Given the description of an element on the screen output the (x, y) to click on. 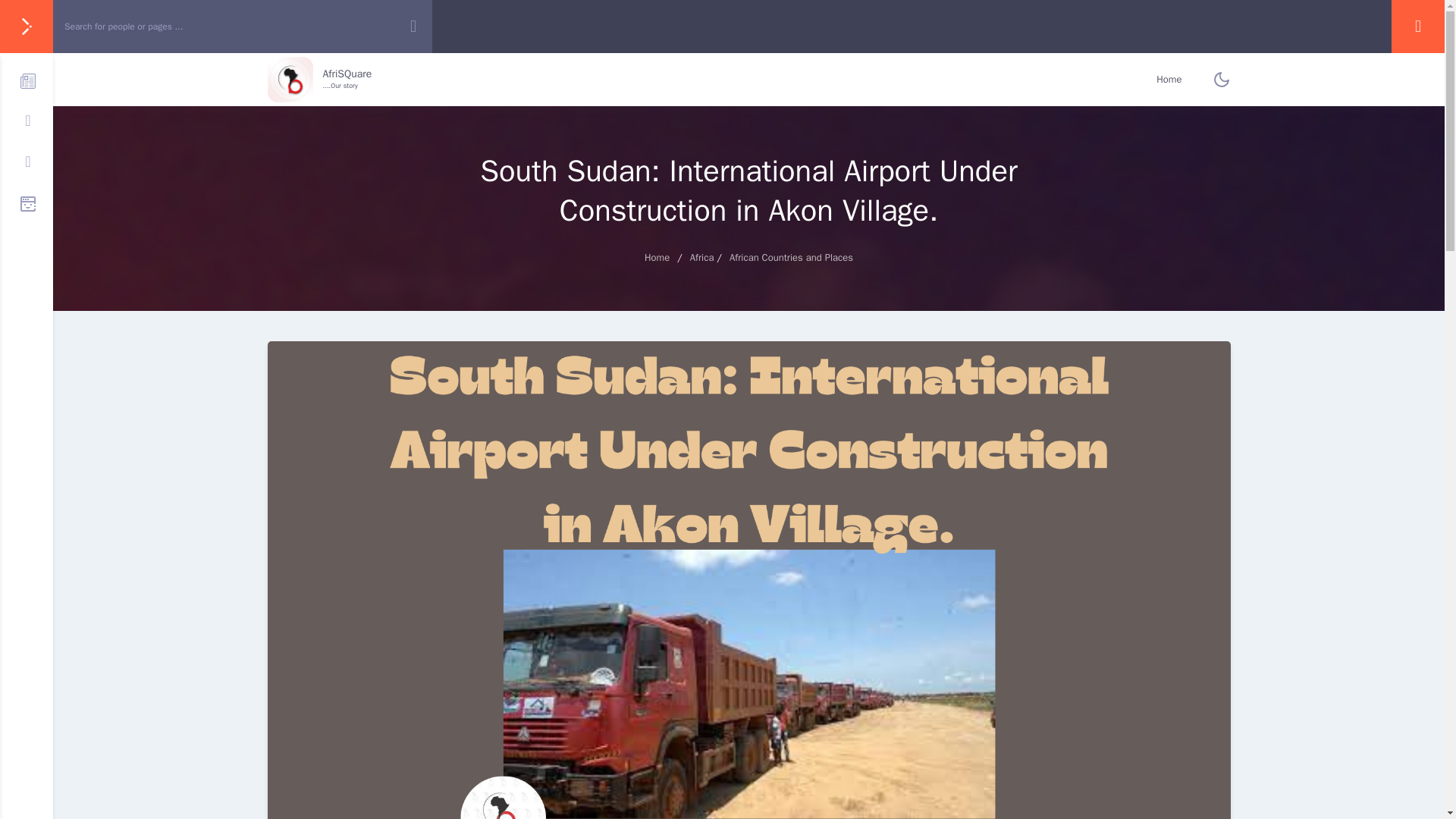
African Countries and Places (791, 256)
Home (657, 256)
Home (318, 79)
Africa (1168, 79)
Home (702, 256)
